Given the description of an element on the screen output the (x, y) to click on. 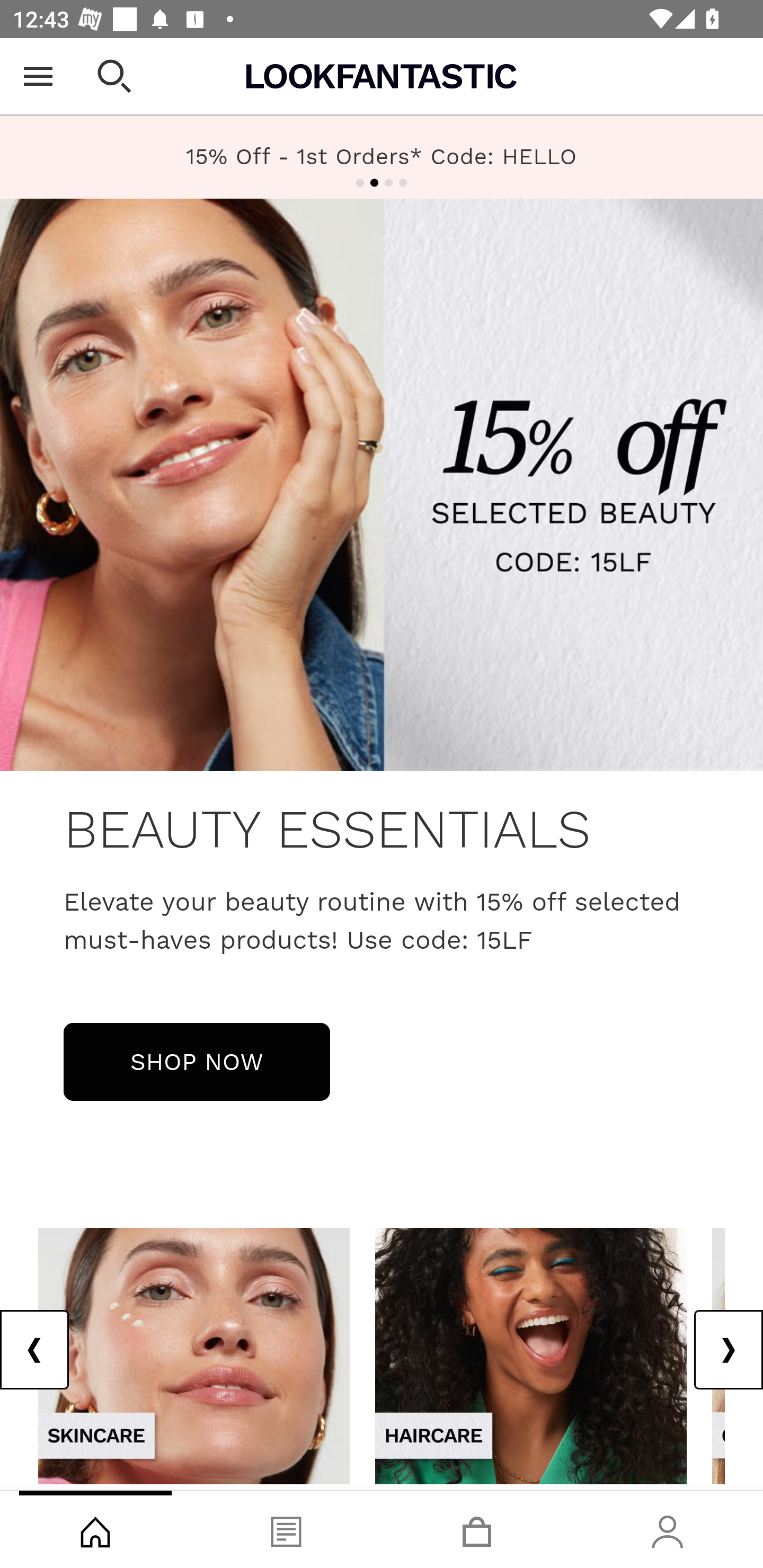
Open Menu (38, 75)
Open search (114, 75)
Lookfantastic USA (381, 75)
FREE US Shipping Over $40 (381, 157)
SHOP NOW (196, 1061)
view-all (193, 1355)
view-all (530, 1355)
Previous (35, 1349)
Next (727, 1349)
Shop, tab, 1 of 4 (95, 1529)
Blog, tab, 2 of 4 (285, 1529)
Basket, tab, 3 of 4 (476, 1529)
Account, tab, 4 of 4 (667, 1529)
